Given the description of an element on the screen output the (x, y) to click on. 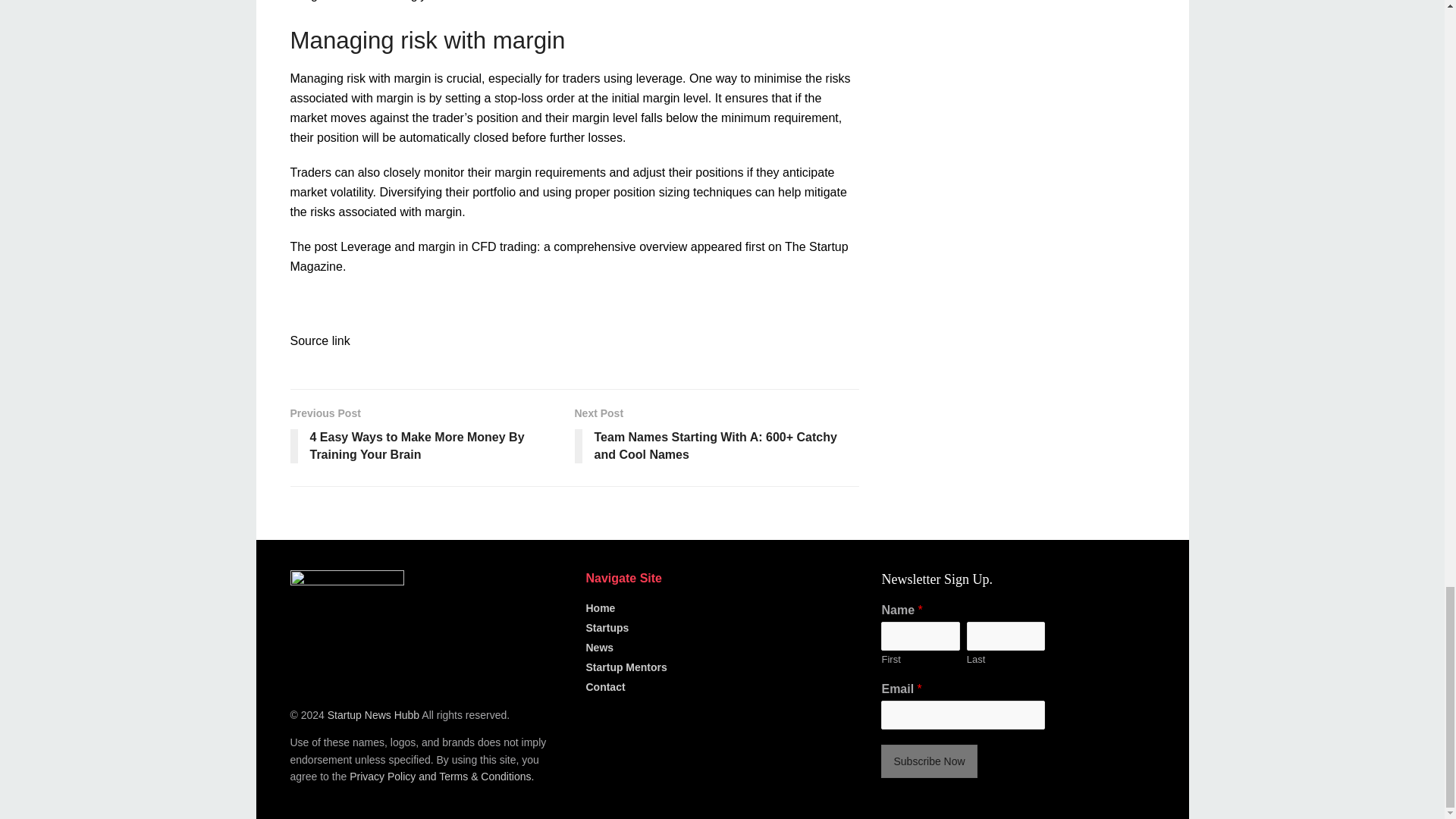
The Startup Magazine (568, 256)
startup-15 (346, 626)
Leverage and margin in CFD trading: a comprehensive overview (513, 246)
Source link (319, 340)
